Given the description of an element on the screen output the (x, y) to click on. 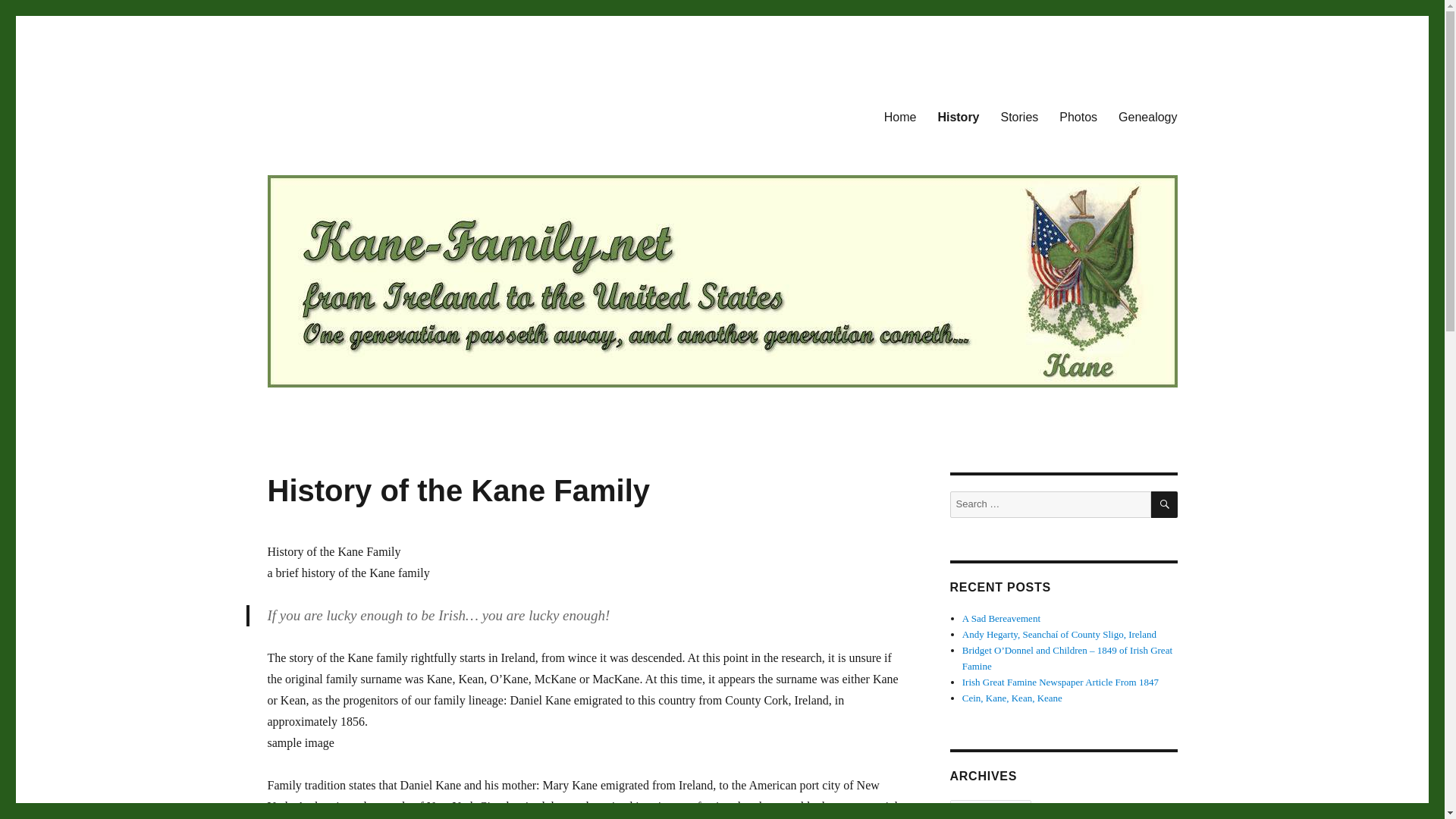
History (958, 116)
Cein, Kane, Kean, Keane (1012, 697)
A Sad Bereavement (1001, 618)
Irish Great Famine Newspaper Article From 1847 (1060, 681)
Photos (1078, 116)
Stories (1019, 116)
Home (900, 116)
Genealogy (1148, 116)
SEARCH (1164, 504)
Kane-Family.net (347, 114)
